Given the description of an element on the screen output the (x, y) to click on. 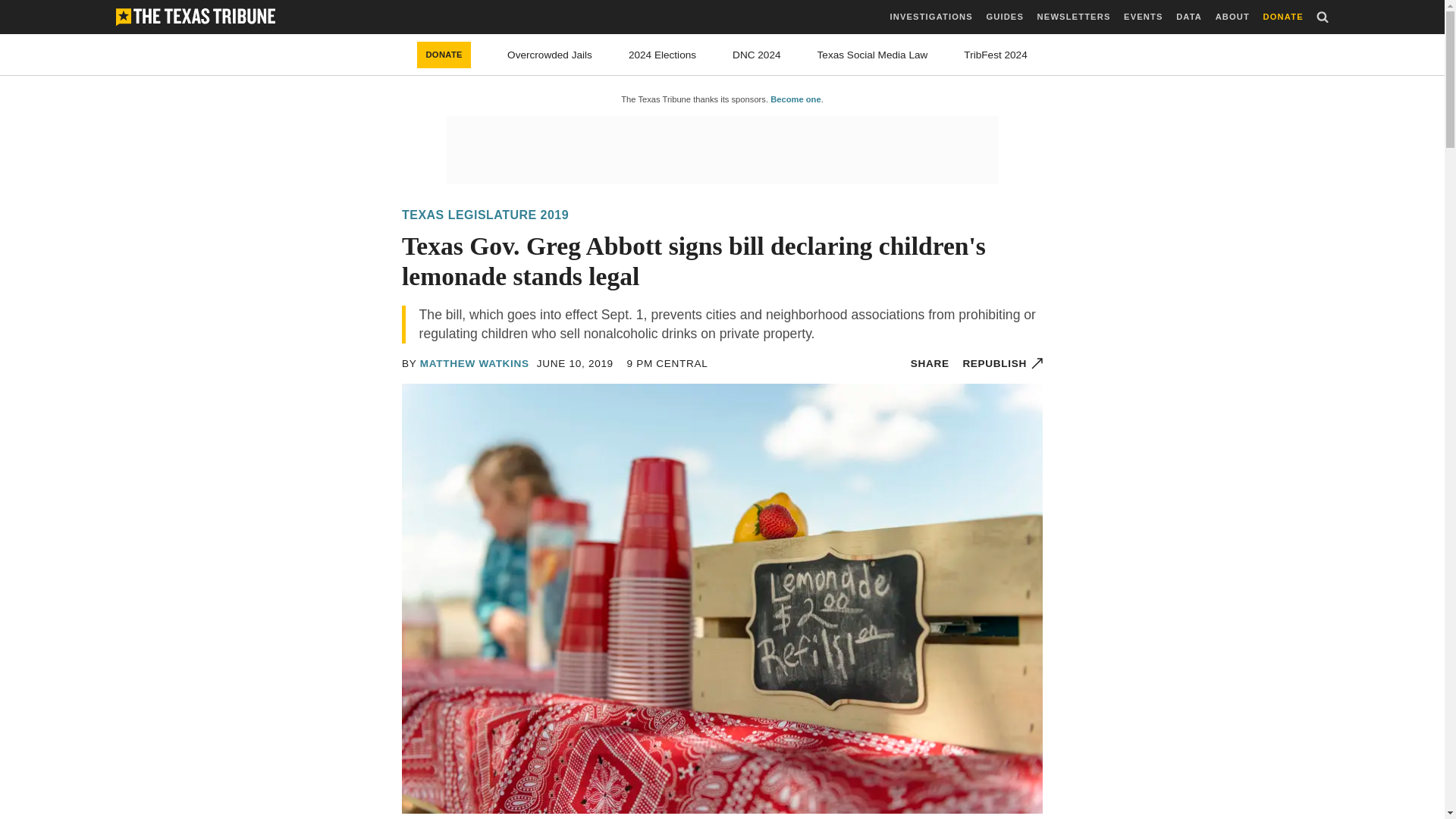
ABOUT (1232, 17)
3rd party ad content (721, 150)
TEXAS LEGISLATURE 2019 (485, 214)
Texas Social Media Law (872, 54)
DONATE (1283, 17)
TribFest 2024 (994, 54)
DNC 2024 (756, 54)
INVESTIGATIONS (930, 17)
GUIDES (1004, 17)
EVENTS (1142, 17)
